Given the description of an element on the screen output the (x, y) to click on. 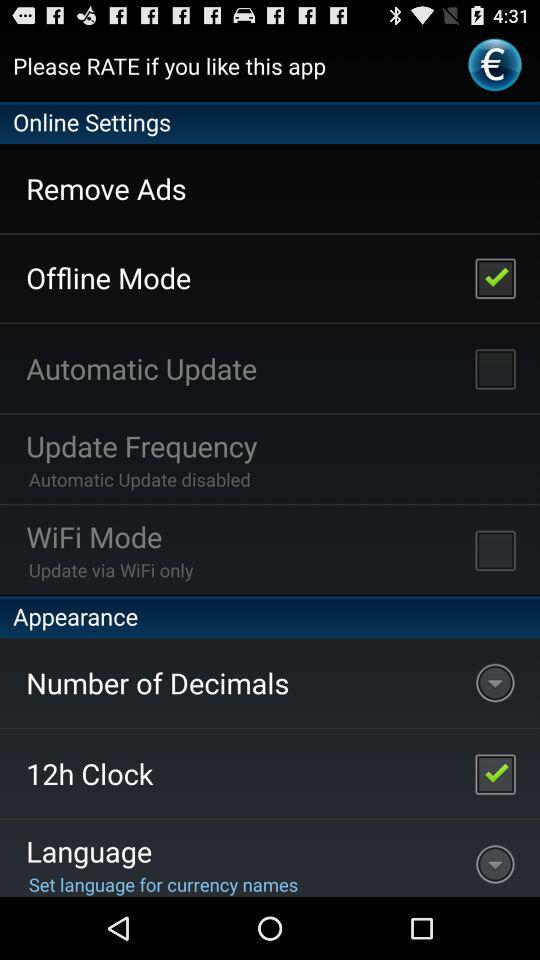
disable 12 hour clock (495, 773)
